Given the description of an element on the screen output the (x, y) to click on. 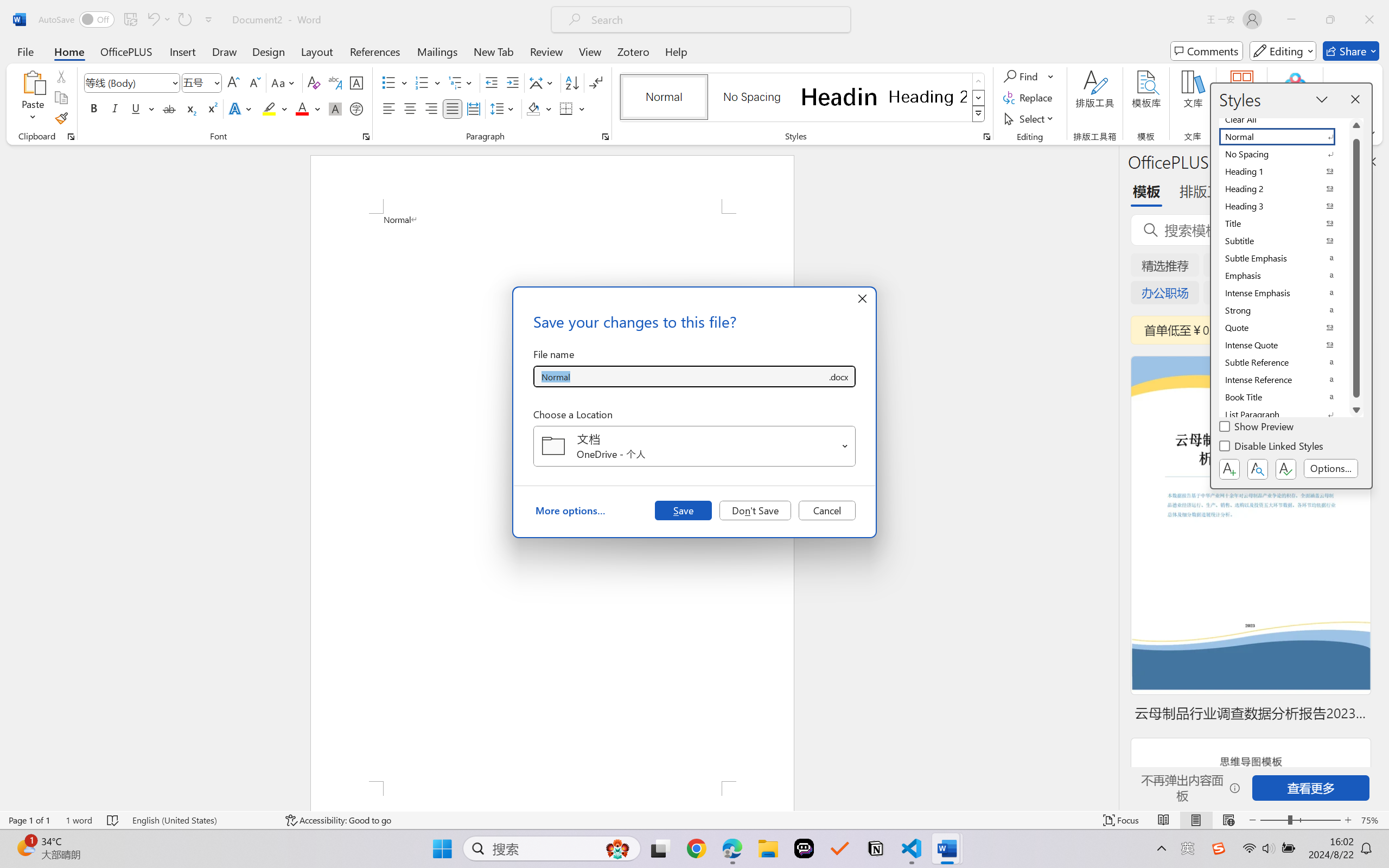
Change Case (284, 82)
Intense Emphasis (1283, 293)
Page Number Page 1 of 1 (29, 819)
Save (682, 509)
References (375, 51)
Ribbon Display Options (1370, 132)
Phonetic Guide... (334, 82)
Intense Reference (1283, 379)
Align Right (431, 108)
Undo Apply Quick Style (152, 19)
Print Layout (1196, 819)
